Given the description of an element on the screen output the (x, y) to click on. 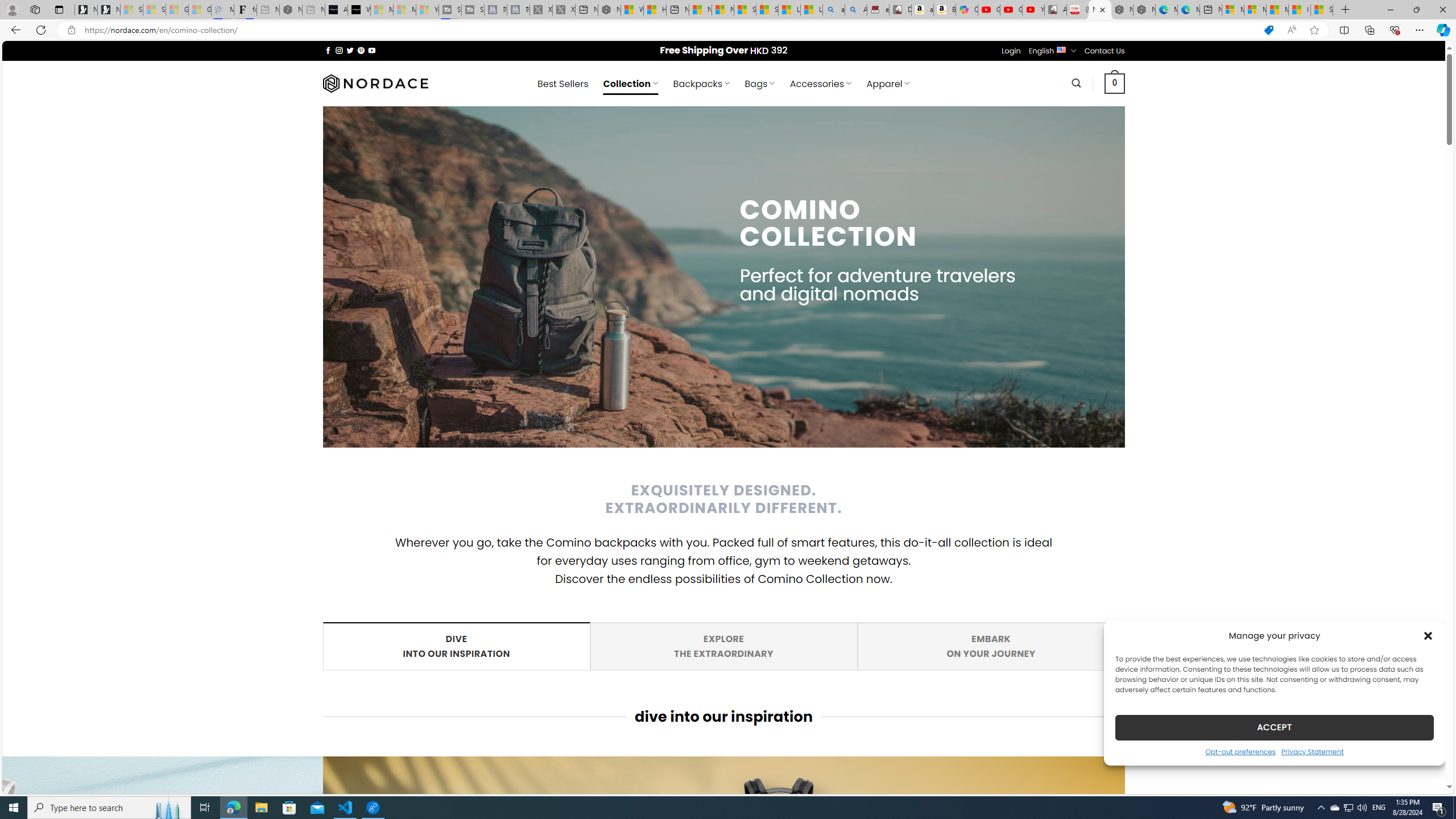
Follow on Pinterest (360, 49)
ACCEPT (1274, 727)
Microsoft Start Sports - Sleeping (455, 645)
